Given the description of an element on the screen output the (x, y) to click on. 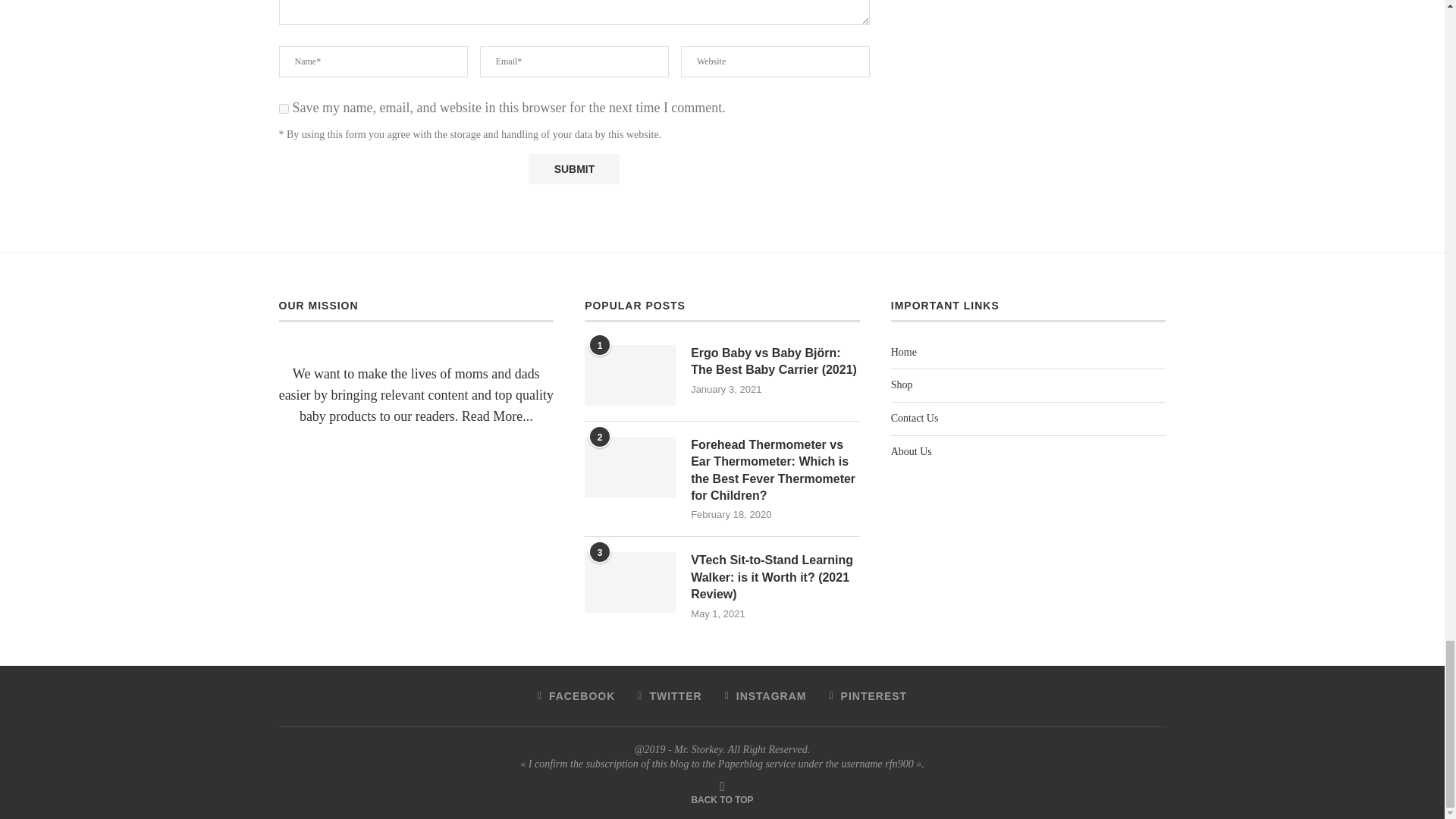
Submit (574, 168)
yes (283, 108)
